Given the description of an element on the screen output the (x, y) to click on. 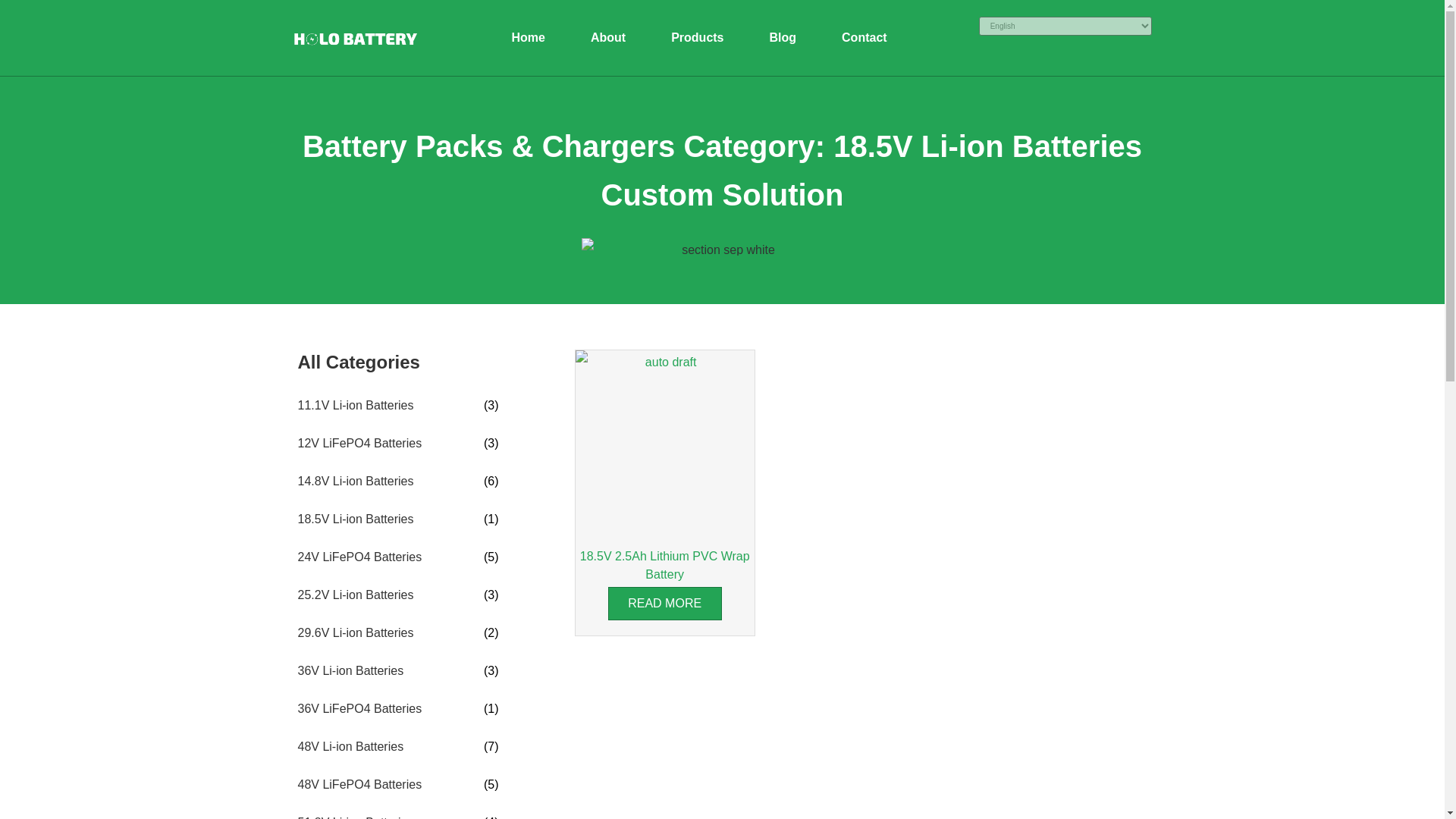
READ MORE (665, 603)
About (607, 37)
Blog (783, 37)
Home (528, 37)
Contact (864, 37)
Products (697, 37)
